Given the description of an element on the screen output the (x, y) to click on. 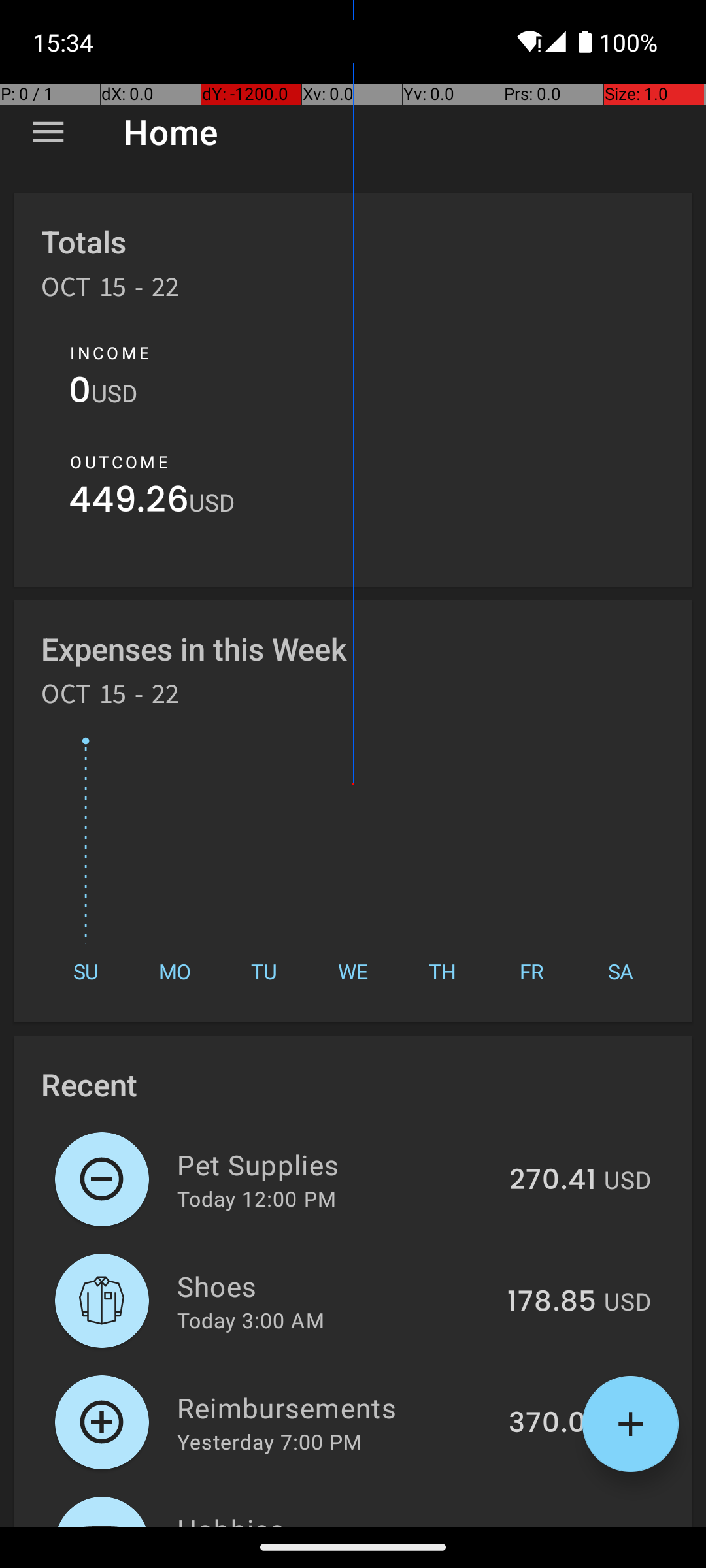
449.26 Element type: android.widget.TextView (128, 502)
Pet Supplies Element type: android.widget.TextView (335, 1164)
Today 12:00 PM Element type: android.widget.TextView (256, 1198)
270.41 Element type: android.widget.TextView (552, 1180)
Shoes Element type: android.widget.TextView (334, 1285)
Today 3:00 AM Element type: android.widget.TextView (250, 1320)
178.85 Element type: android.widget.TextView (551, 1301)
Reimbursements Element type: android.widget.TextView (335, 1407)
Yesterday 7:00 PM Element type: android.widget.TextView (269, 1441)
370.01 Element type: android.widget.TextView (551, 1423)
Hobbies Element type: android.widget.TextView (331, 1518)
452.93 Element type: android.widget.TextView (548, 1524)
